Given the description of an element on the screen output the (x, y) to click on. 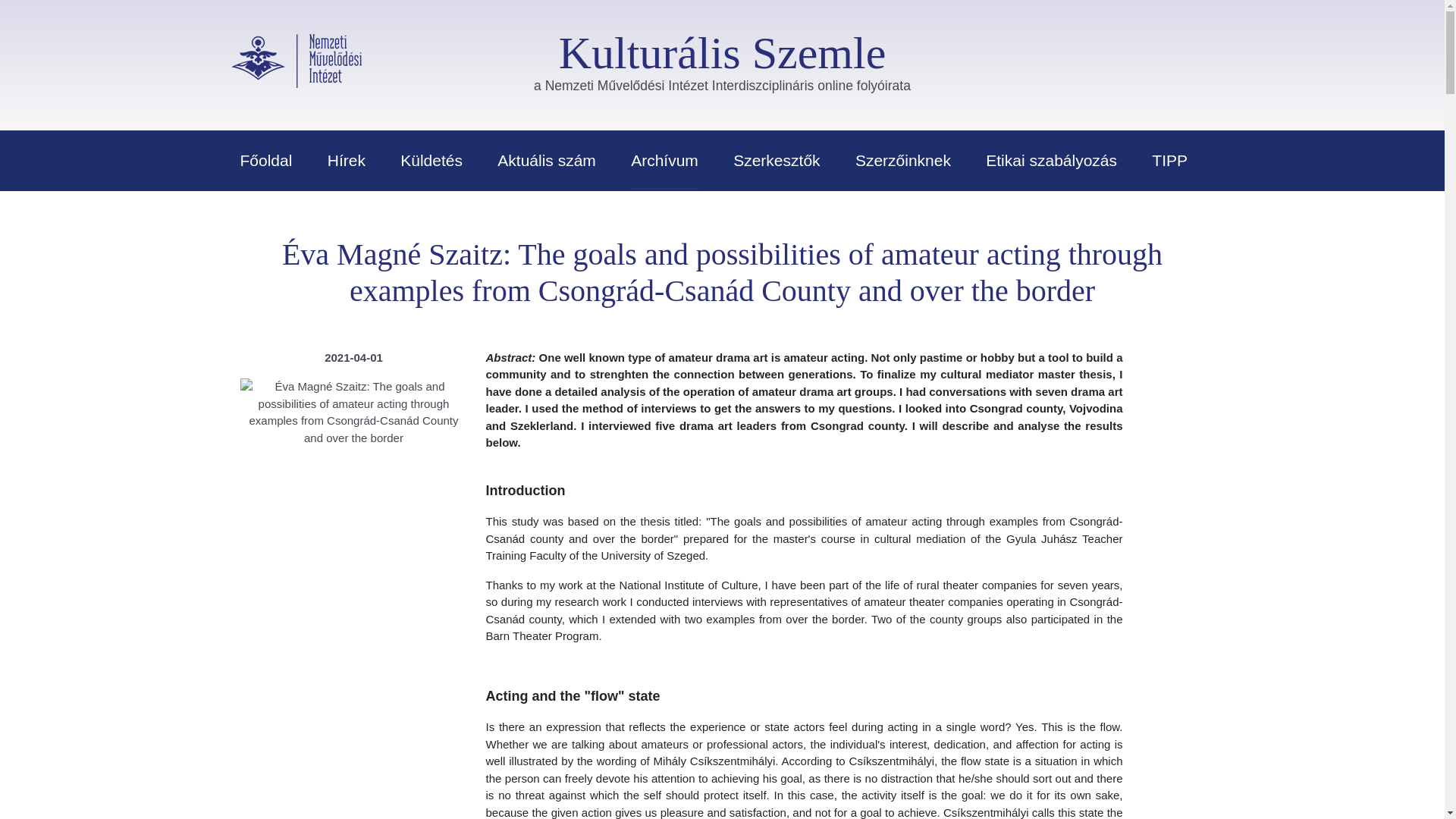
TIPP (1169, 160)
